Given the description of an element on the screen output the (x, y) to click on. 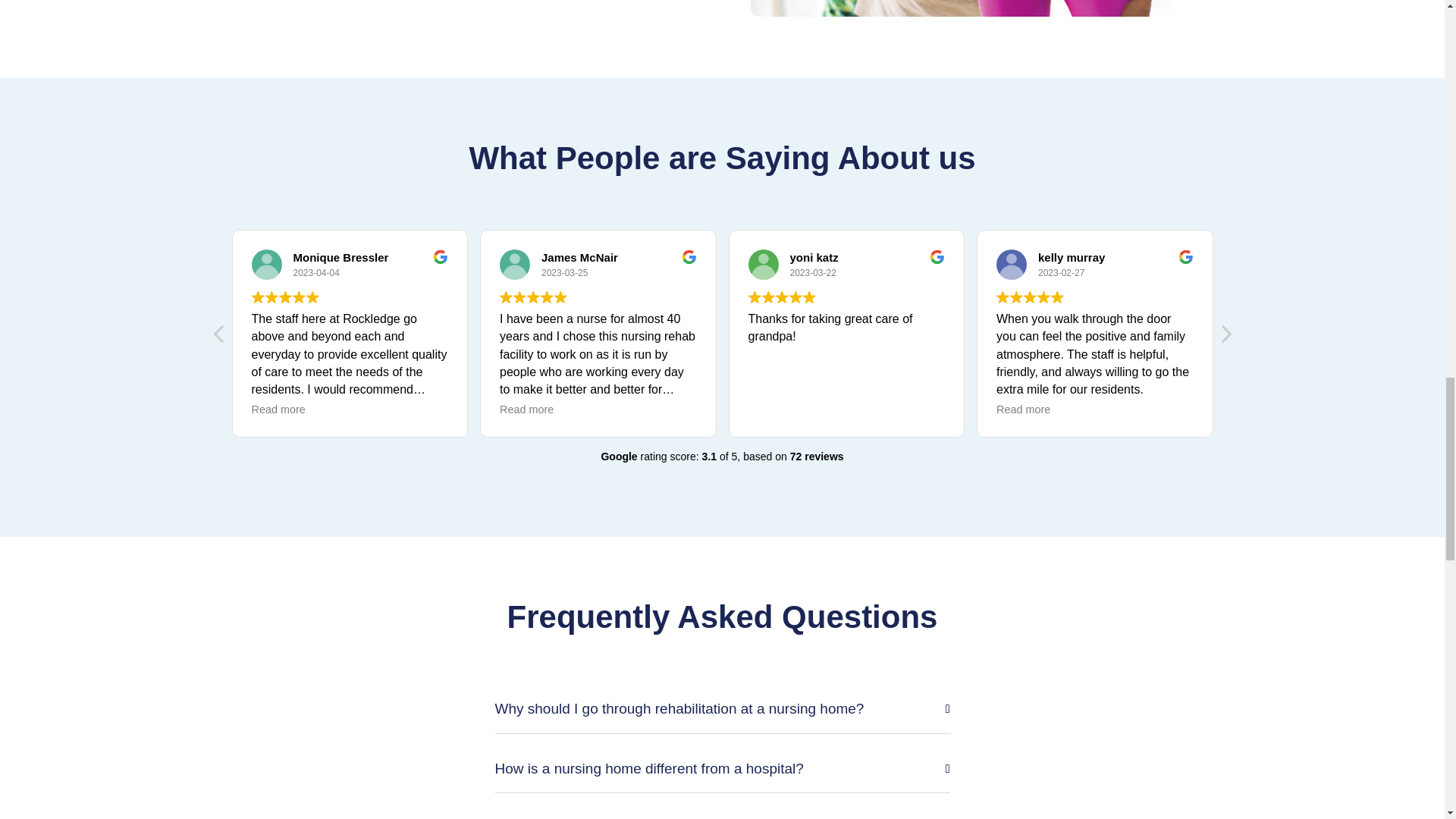
Social-activities (974, 8)
